Given the description of an element on the screen output the (x, y) to click on. 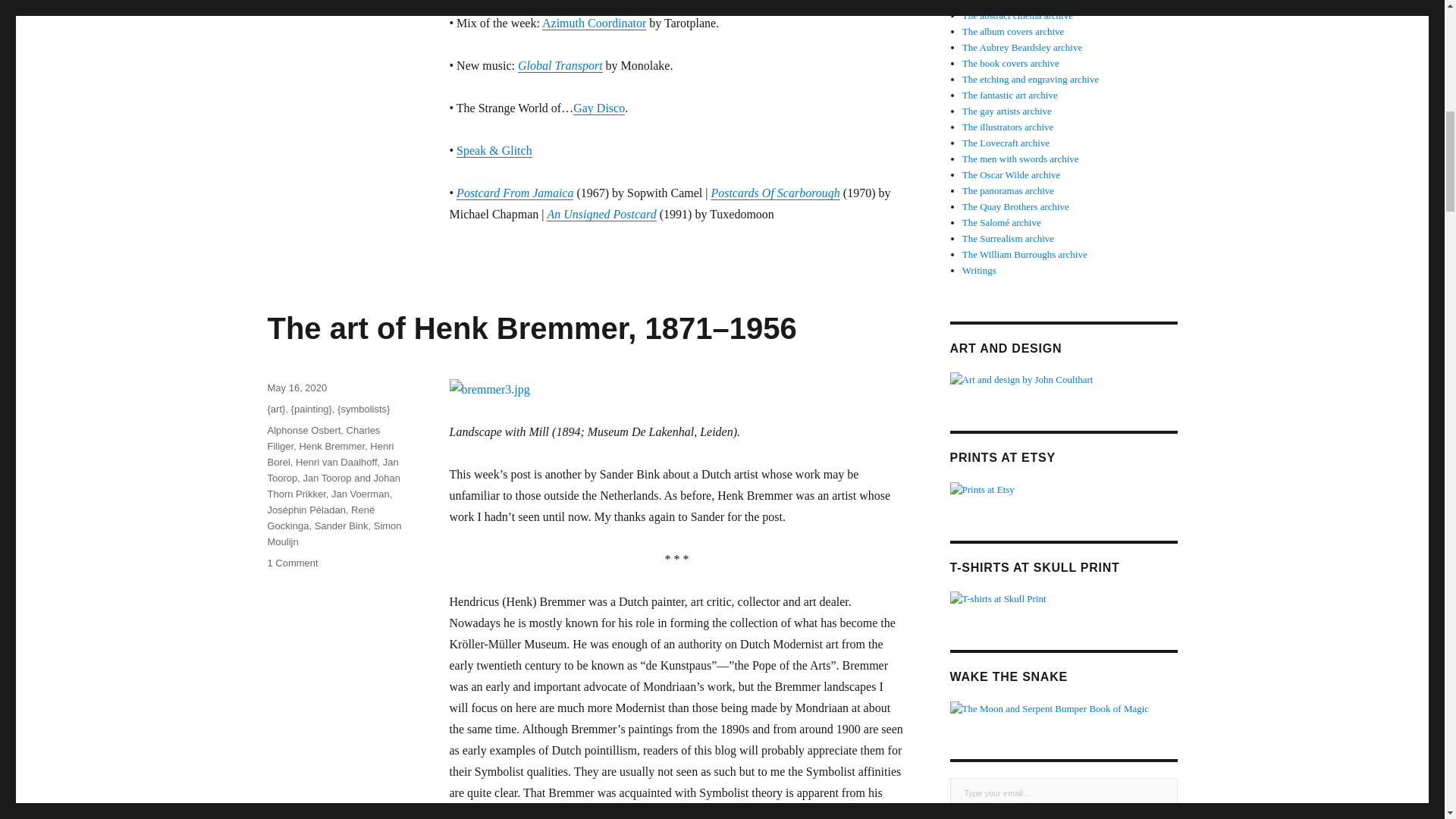
Postcard From Jamaica (515, 192)
Gay Disco (598, 107)
An Unsigned Postcard (601, 214)
Please fill in this field. (1062, 793)
Postcards Of Scarborough (775, 192)
Global Transport (560, 65)
Azimuth Coordinator (593, 22)
